Given the description of an element on the screen output the (x, y) to click on. 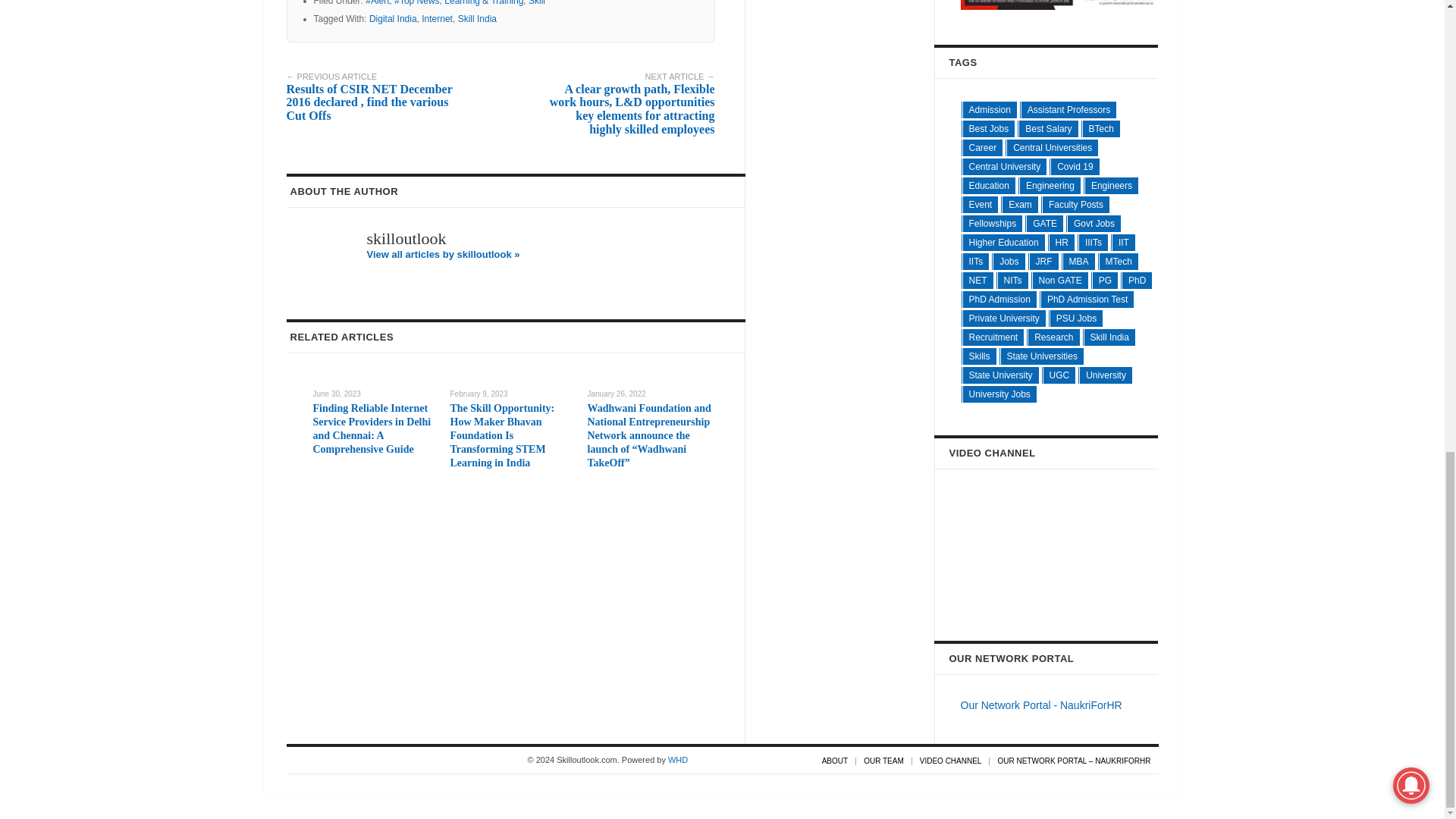
Internet (437, 18)
Digital India (392, 18)
Skill (536, 2)
Posts by skilloutlook (406, 238)
